Given the description of an element on the screen output the (x, y) to click on. 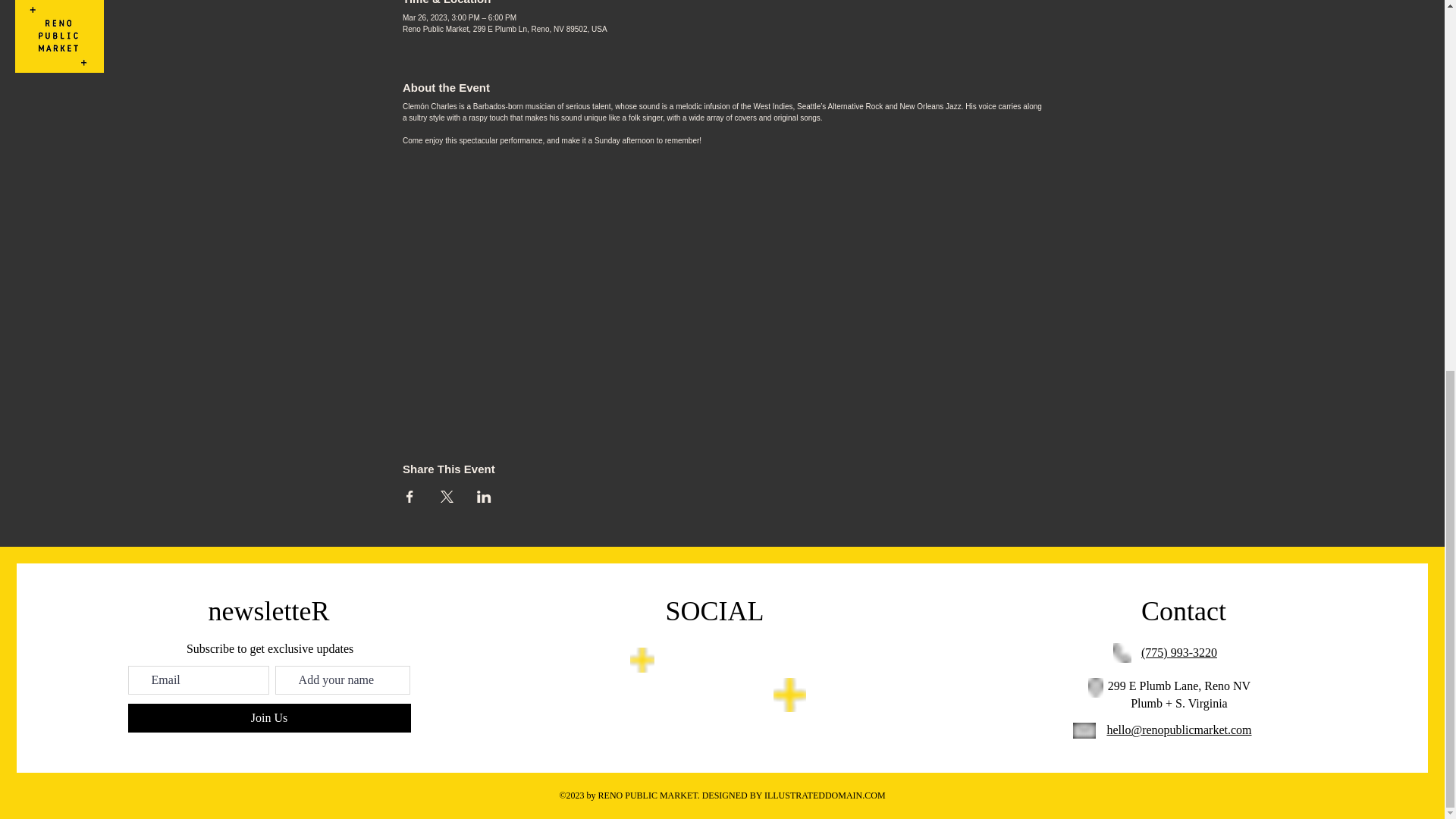
Join Us (269, 717)
